Given the description of an element on the screen output the (x, y) to click on. 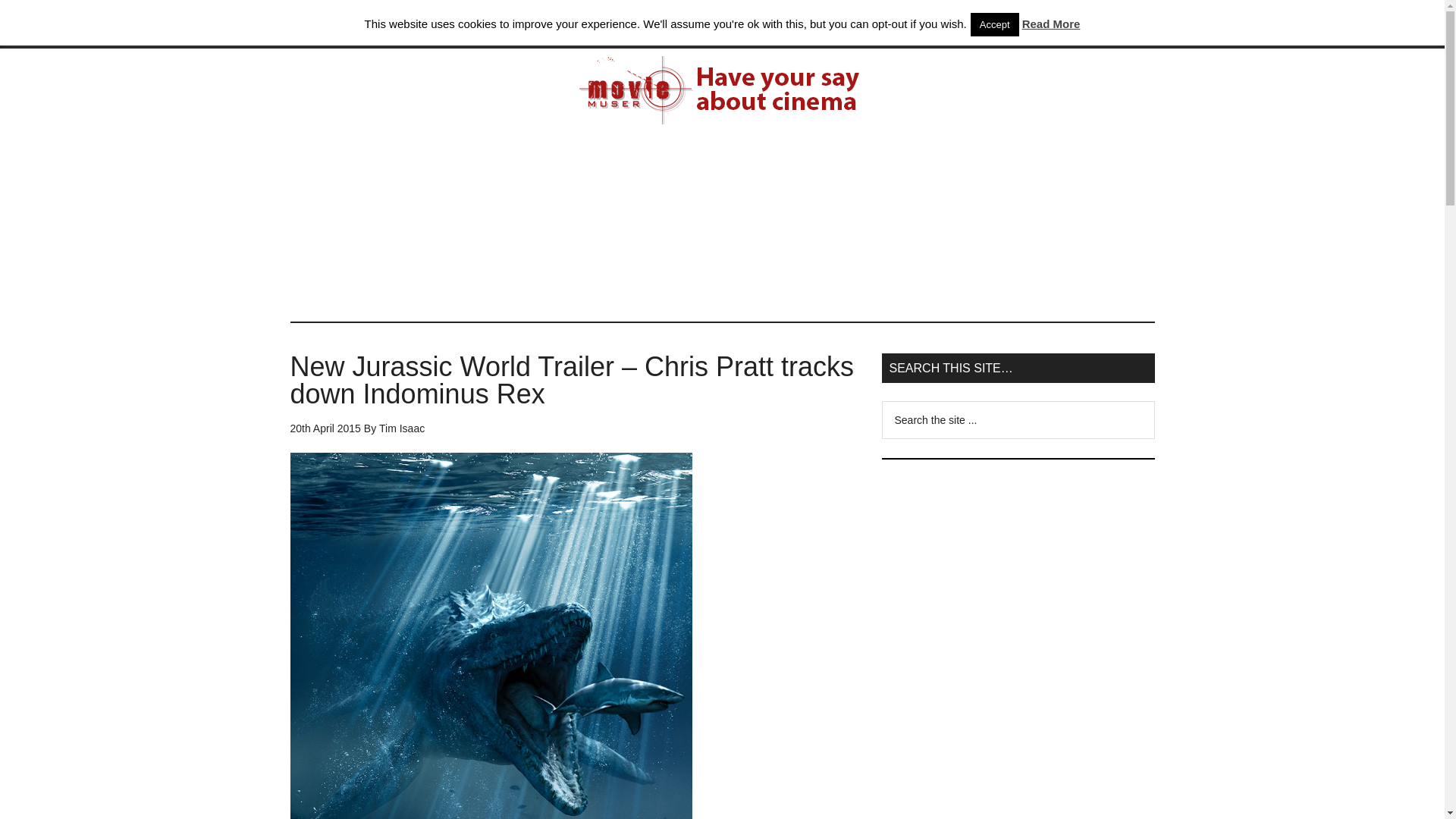
MOVIE TRAILERS (516, 24)
MOVIE NEWS (404, 24)
3rd party ad content (1017, 573)
REVIEWS (619, 24)
Movie Muser (721, 90)
Tim Isaac (401, 428)
3rd party ad content (1017, 747)
